Given the description of an element on the screen output the (x, y) to click on. 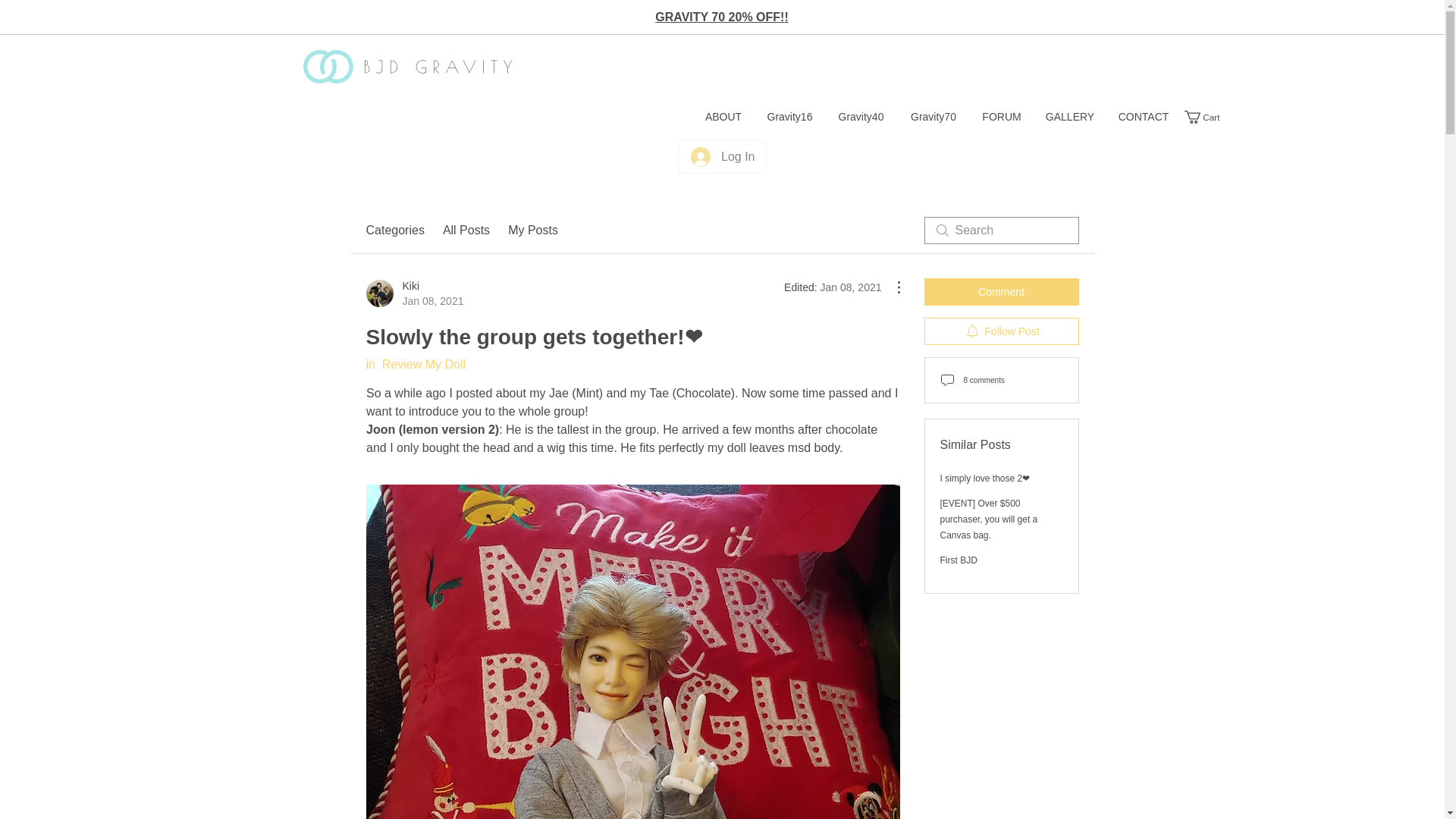
Gravity40 (861, 116)
in  Review My Doll (415, 364)
Gravity70 (933, 116)
GALLERY (1069, 116)
Gravity16 (1209, 116)
Categories (1209, 116)
All Posts (790, 116)
My Posts (394, 230)
Log In (465, 230)
ABOUT (532, 230)
CONTACT (722, 156)
FORUM (722, 116)
